Given the description of an element on the screen output the (x, y) to click on. 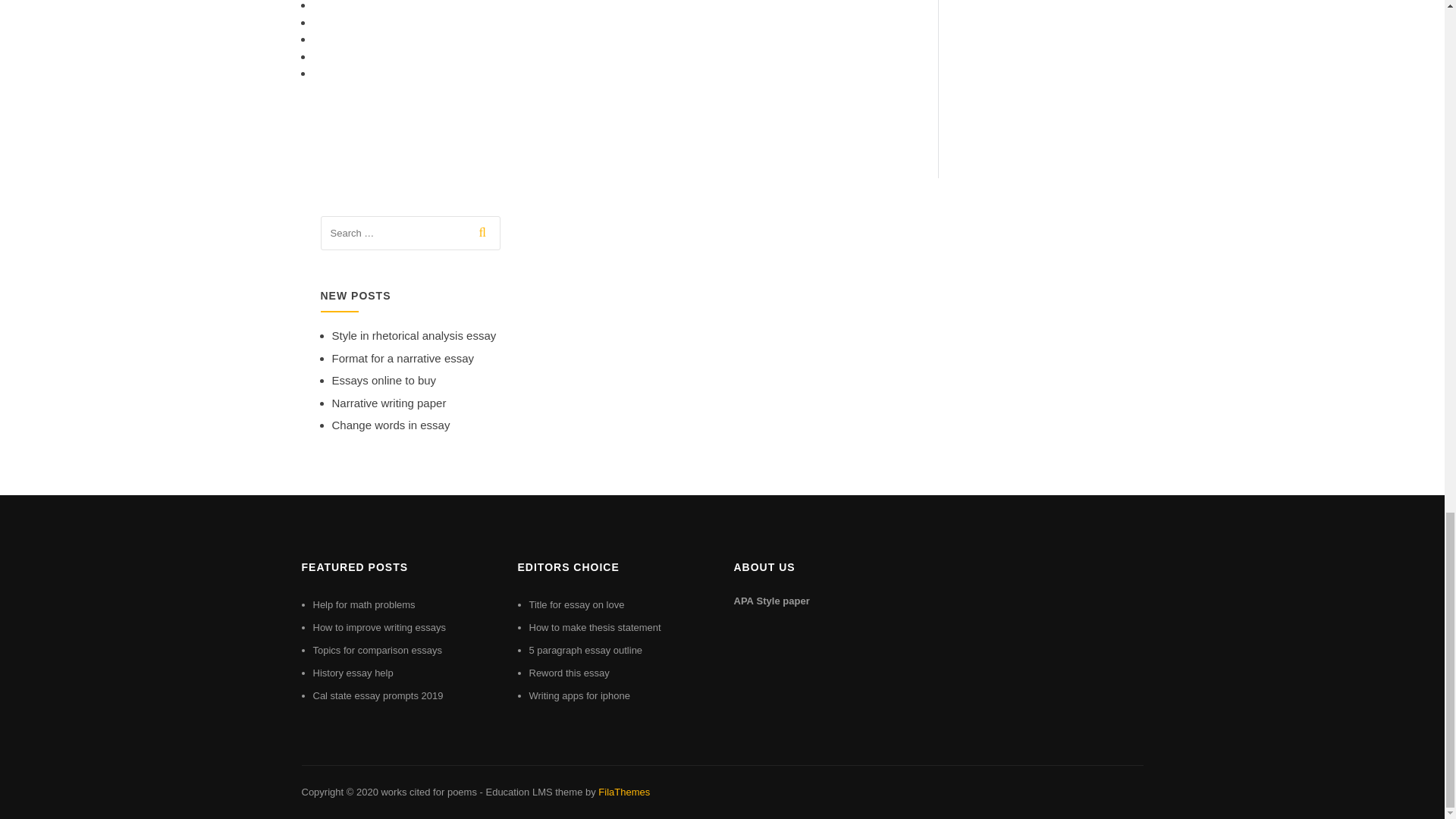
Writing apps for iphone (579, 695)
Change words in essay (390, 424)
5 paragraph essay outline (586, 650)
Narrative writing paper (388, 402)
Title for essay on love (576, 604)
Cal state essay prompts 2019 (377, 695)
How to make thesis statement (595, 627)
Format for a narrative essay (402, 358)
Essays online to buy (383, 379)
History essay help (353, 672)
works cited for poems (428, 791)
Reword this essay (569, 672)
How to improve writing essays (379, 627)
works cited for poems (428, 791)
Style in rhetorical analysis essay (413, 335)
